Given the description of an element on the screen output the (x, y) to click on. 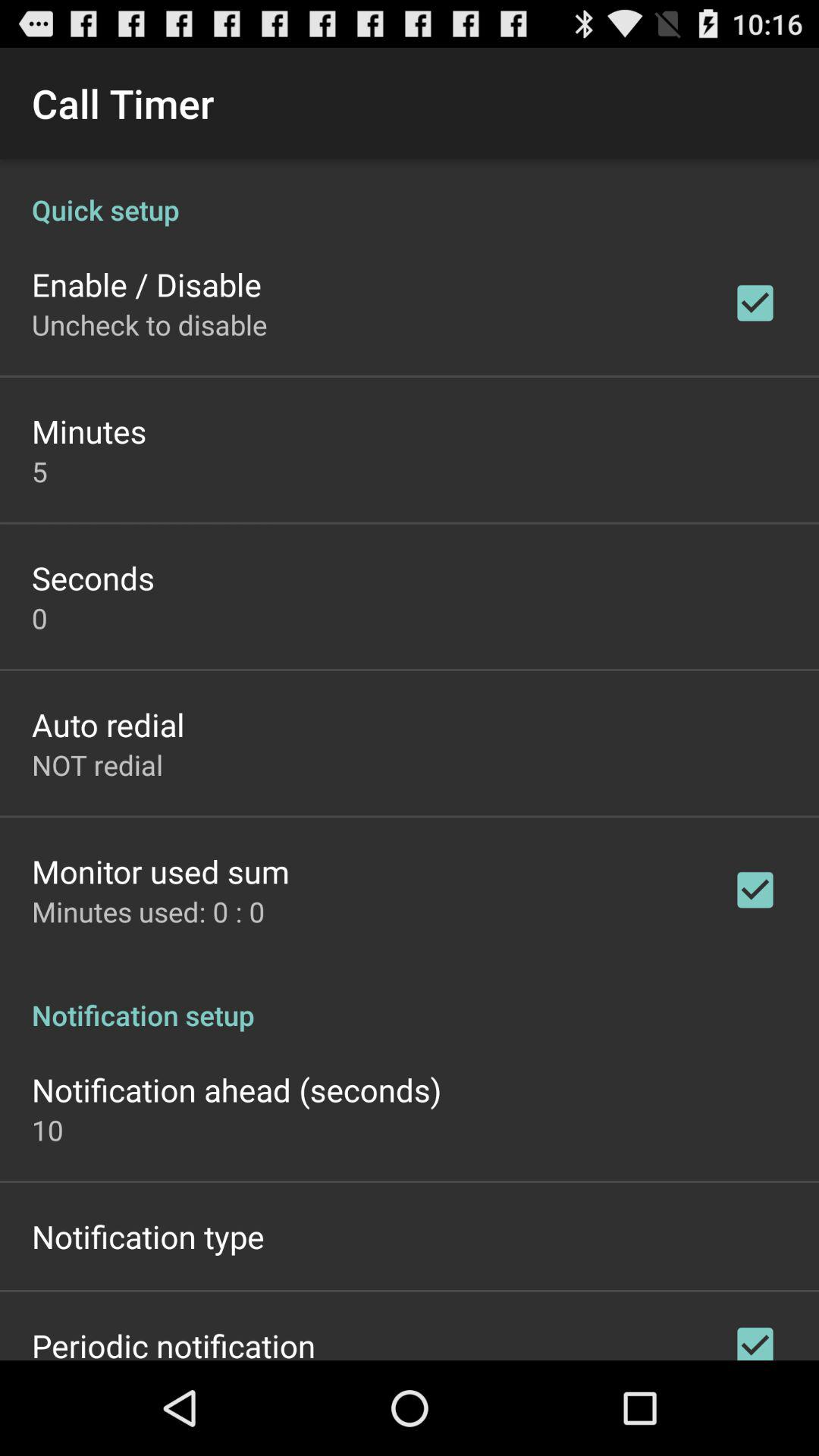
select the icon below notification type (173, 1342)
